Given the description of an element on the screen output the (x, y) to click on. 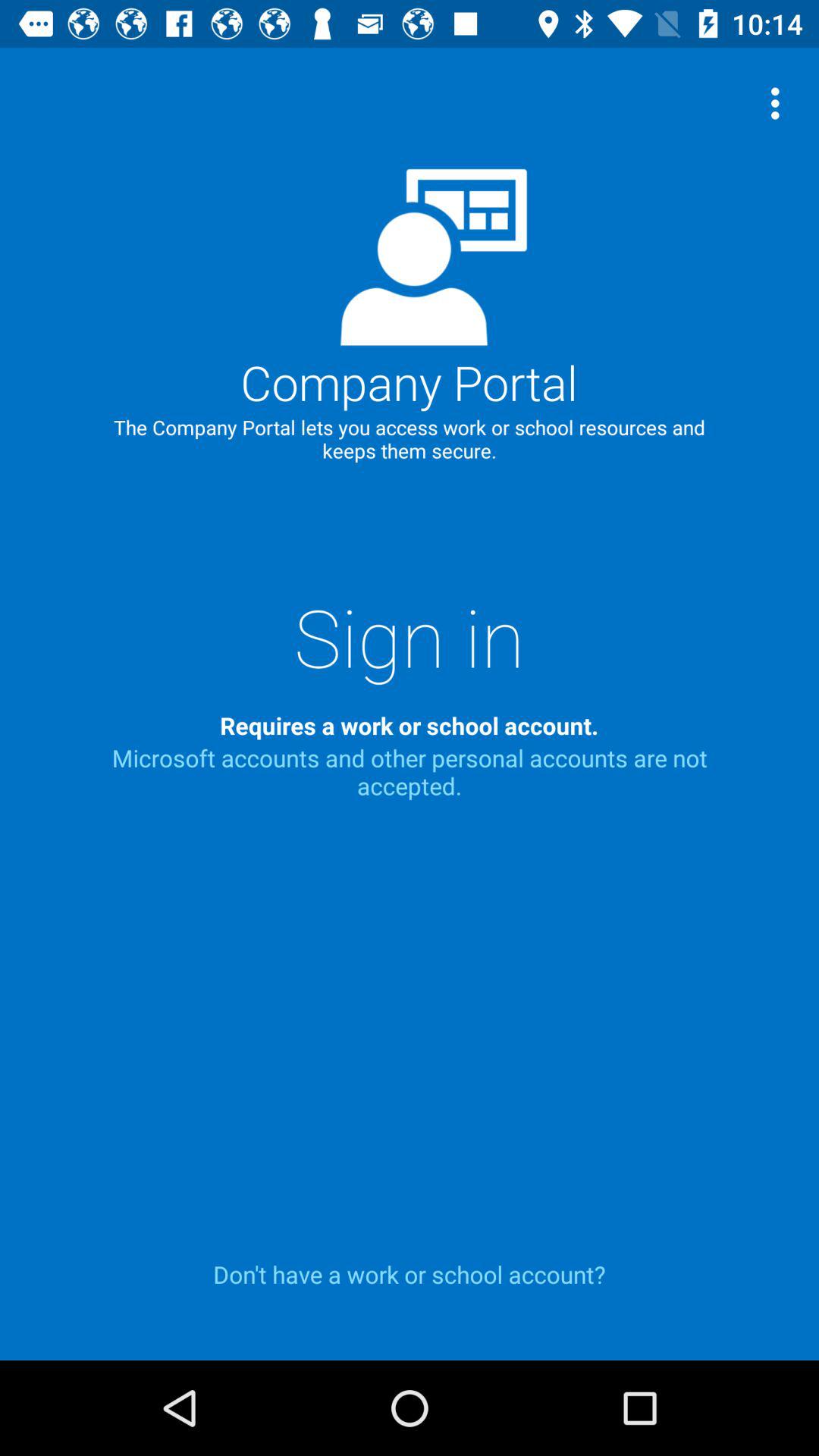
open the sign in (409, 636)
